Given the description of an element on the screen output the (x, y) to click on. 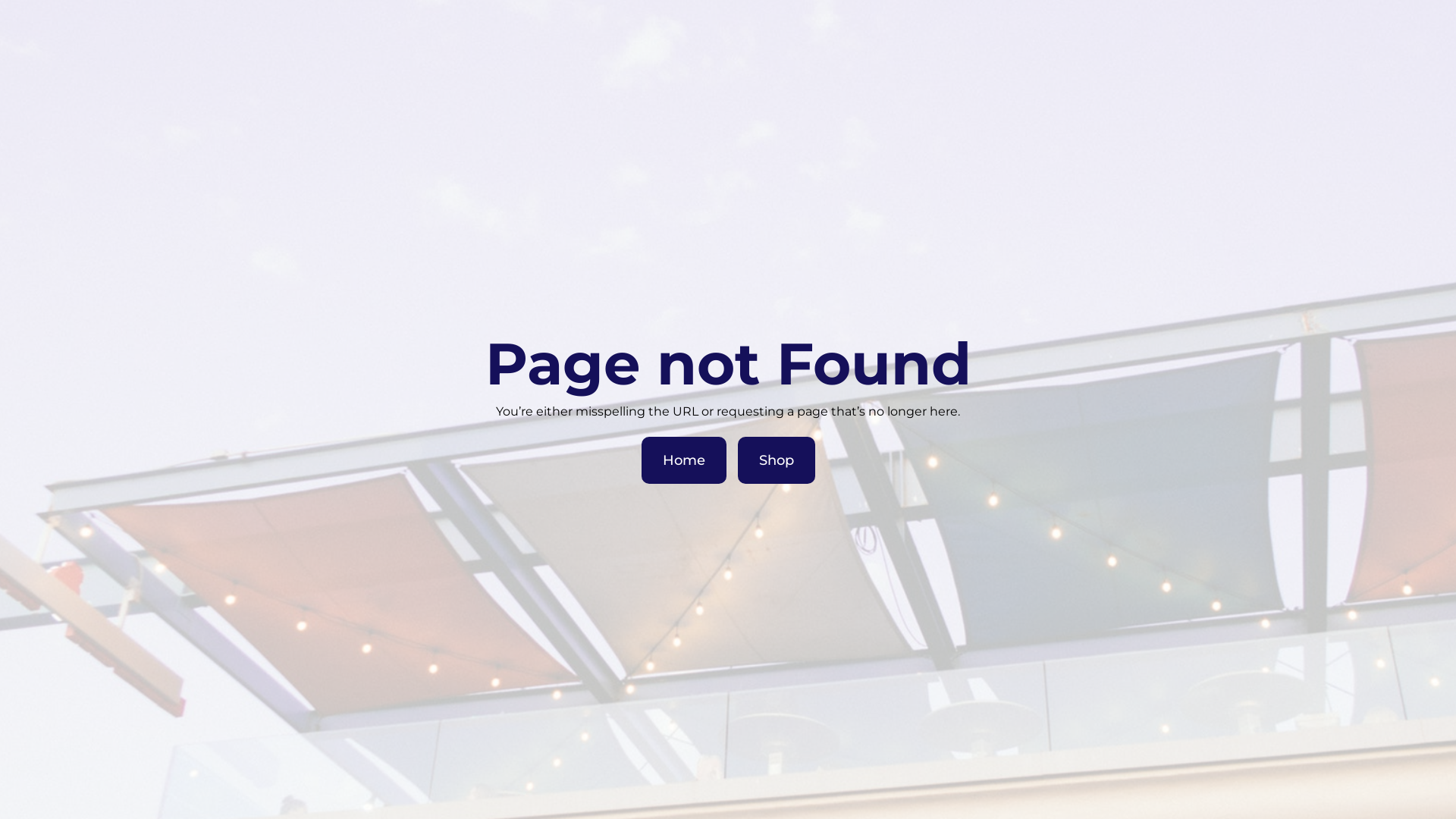
Home Element type: text (683, 459)
Shop Element type: text (775, 459)
